Given the description of an element on the screen output the (x, y) to click on. 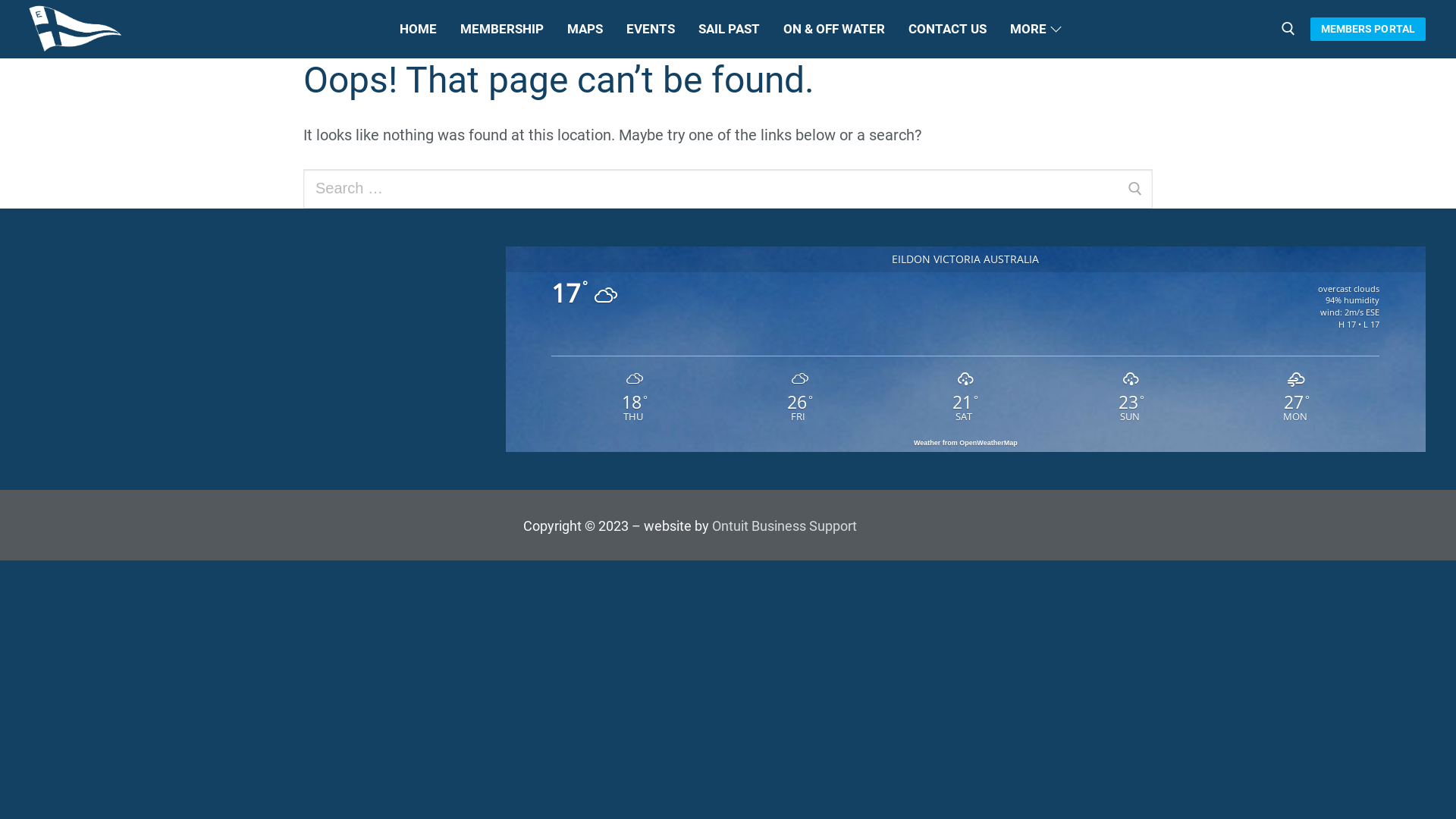
EVENTS Element type: text (649, 28)
MORE
  Element type: text (1032, 28)
SAIL PAST Element type: text (728, 28)
ON & OFF WATER Element type: text (833, 28)
Search for: Element type: hover (727, 188)
MEMBERS PORTAL Element type: text (1367, 28)
CONTACT US Element type: text (946, 28)
MAPS Element type: text (583, 28)
MEMBERSHIP Element type: text (501, 28)
HOME Element type: text (417, 28)
Ontuit Business Support Element type: text (784, 525)
